Given the description of an element on the screen output the (x, y) to click on. 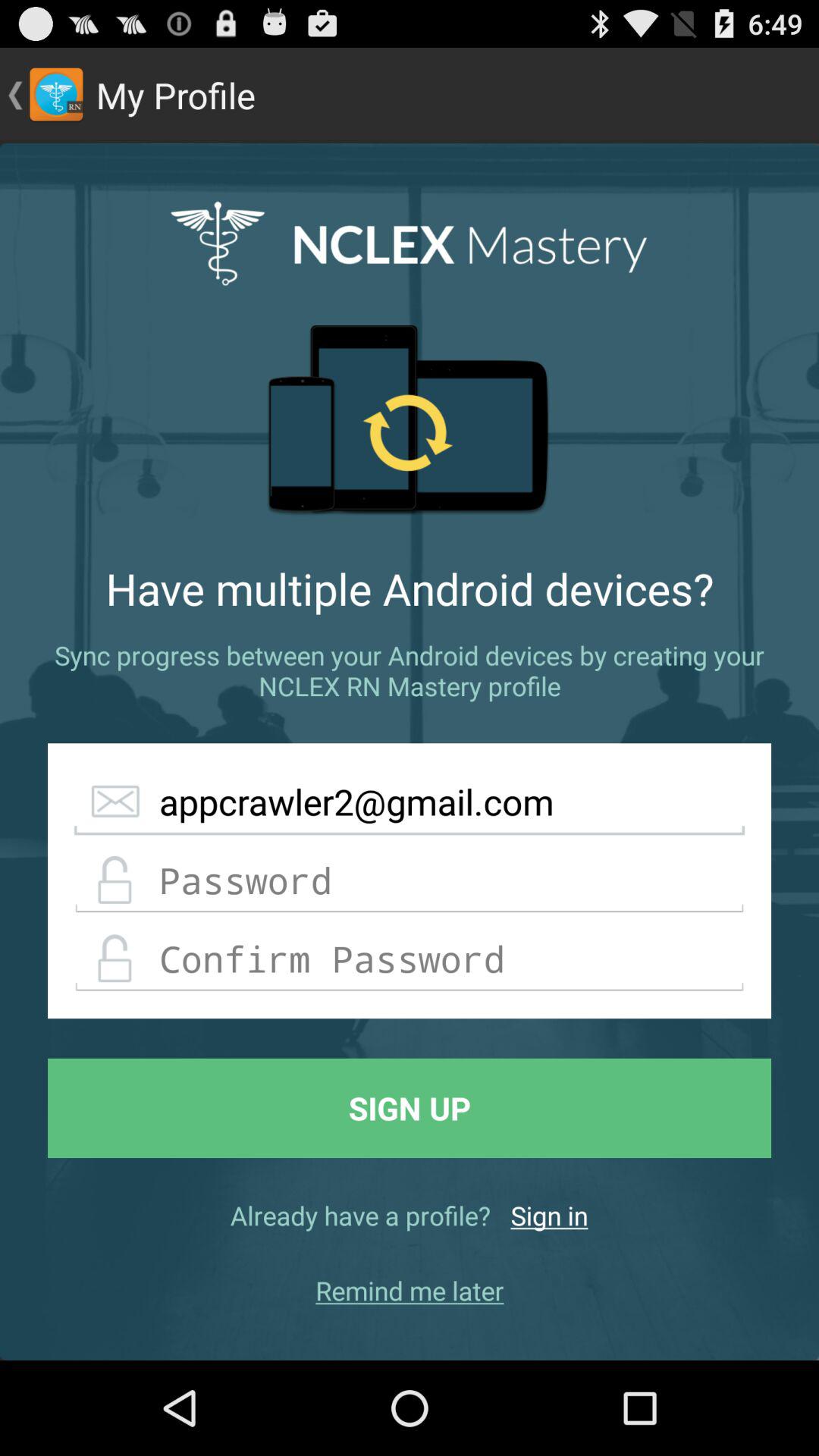
confirm password (409, 959)
